Given the description of an element on the screen output the (x, y) to click on. 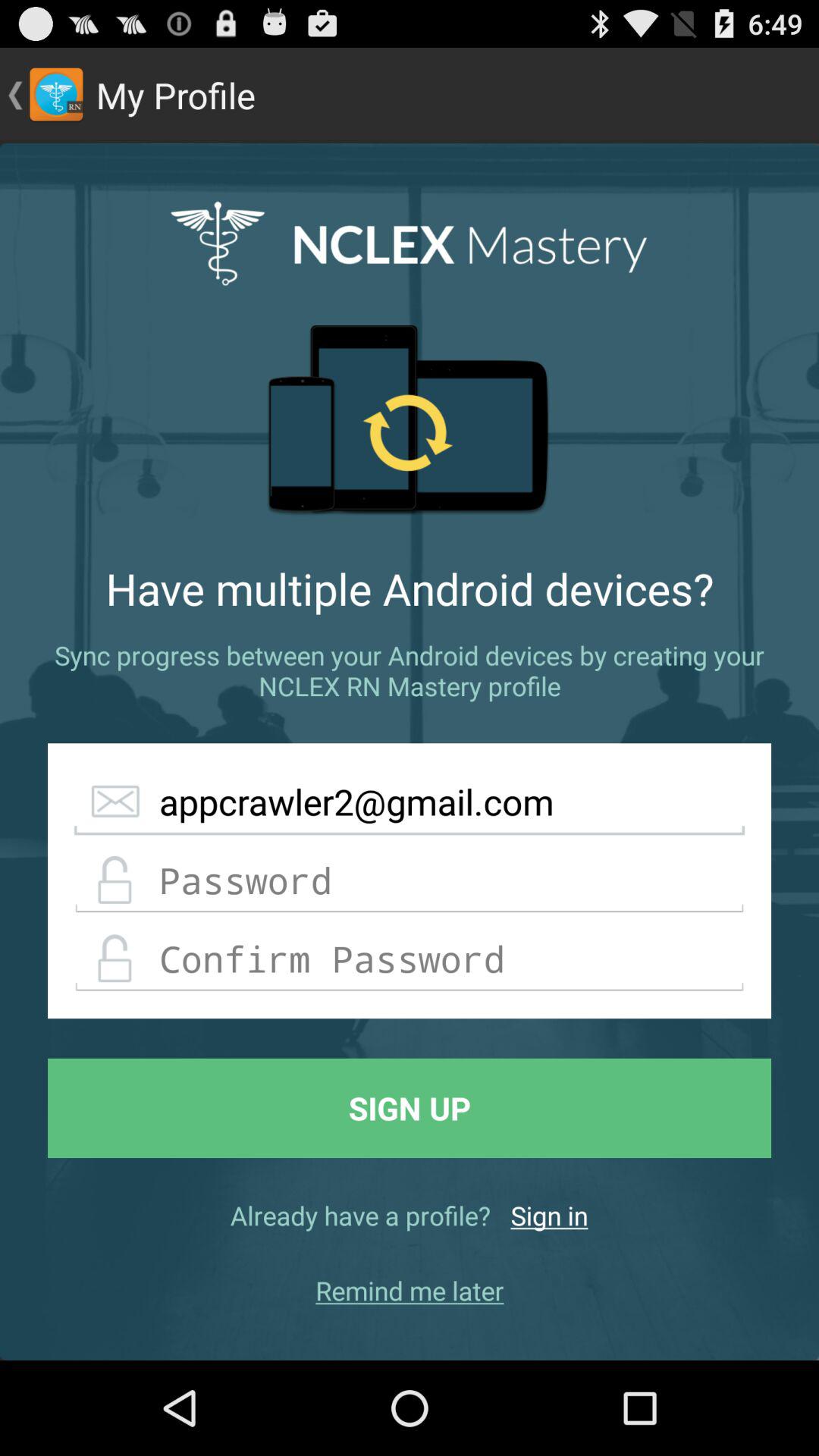
confirm password (409, 959)
